Given the description of an element on the screen output the (x, y) to click on. 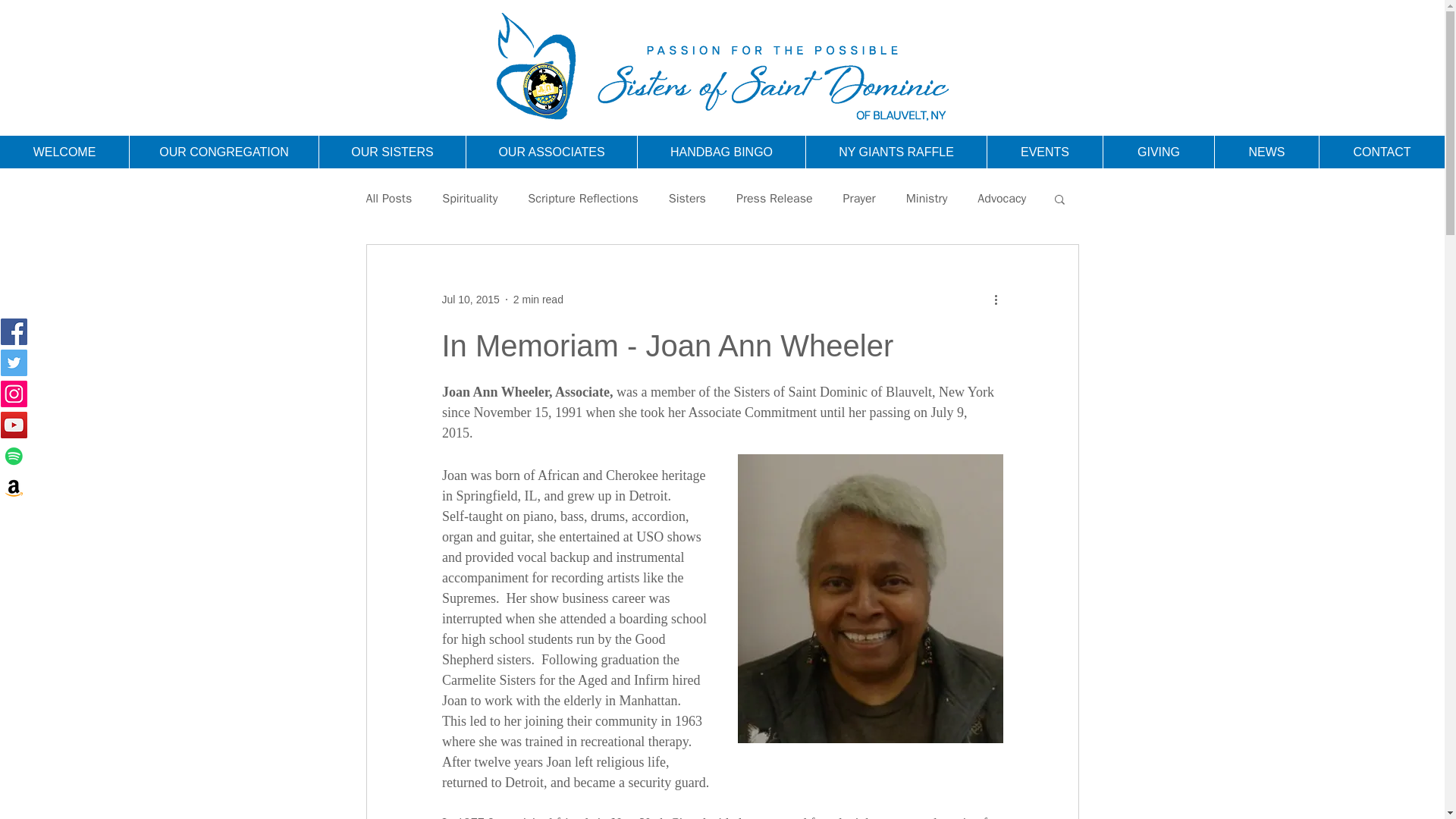
HANDBAG BINGO (721, 151)
2 min read (538, 298)
NY GIANTS RAFFLE (896, 151)
Jul 10, 2015 (470, 298)
WELCOME (64, 151)
EVENTS (1044, 151)
NEWS (1266, 151)
OUR ASSOCIATES (551, 151)
OUR CONGREGATION (223, 151)
GIVING (1158, 151)
